Given the description of an element on the screen output the (x, y) to click on. 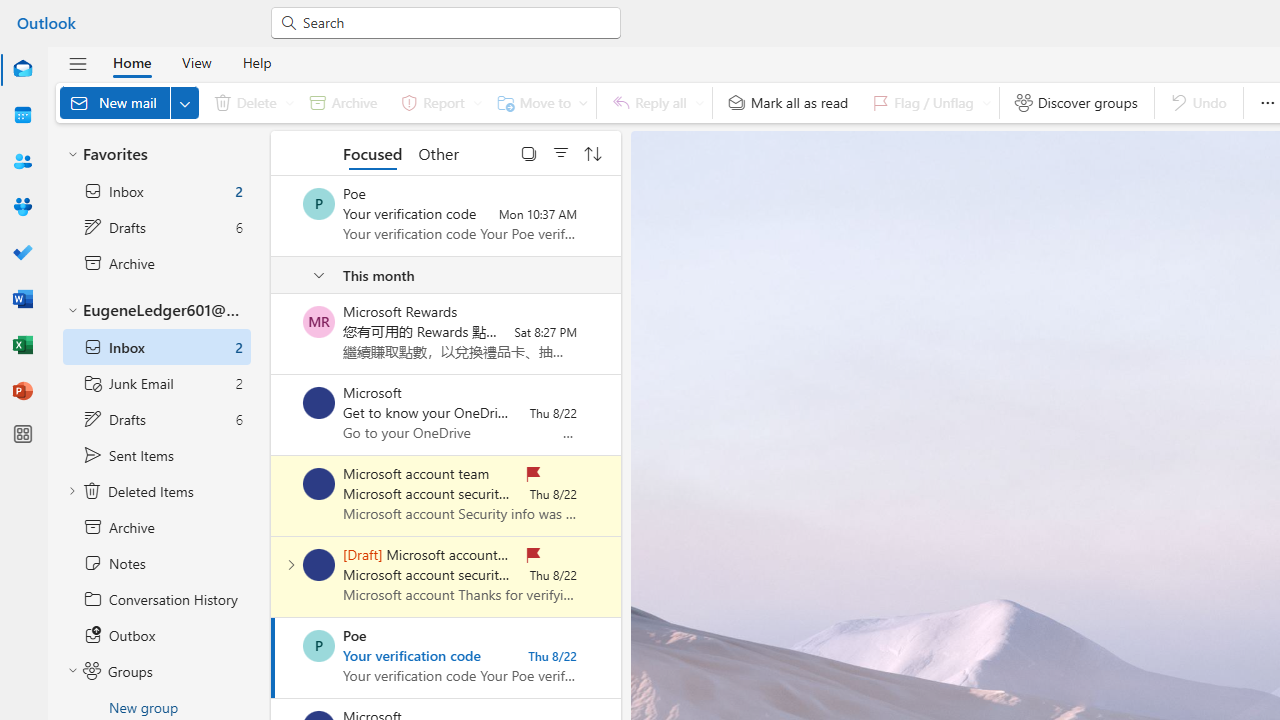
People (22, 161)
Excel (22, 344)
Expand to see more respond options (699, 102)
Mail (22, 69)
Archive (343, 102)
PowerPoint (22, 390)
Discover groups (1076, 102)
Calendar (22, 115)
Flag / Unflag (927, 102)
Calendar (22, 115)
Report (437, 102)
To Do (22, 254)
